Given the description of an element on the screen output the (x, y) to click on. 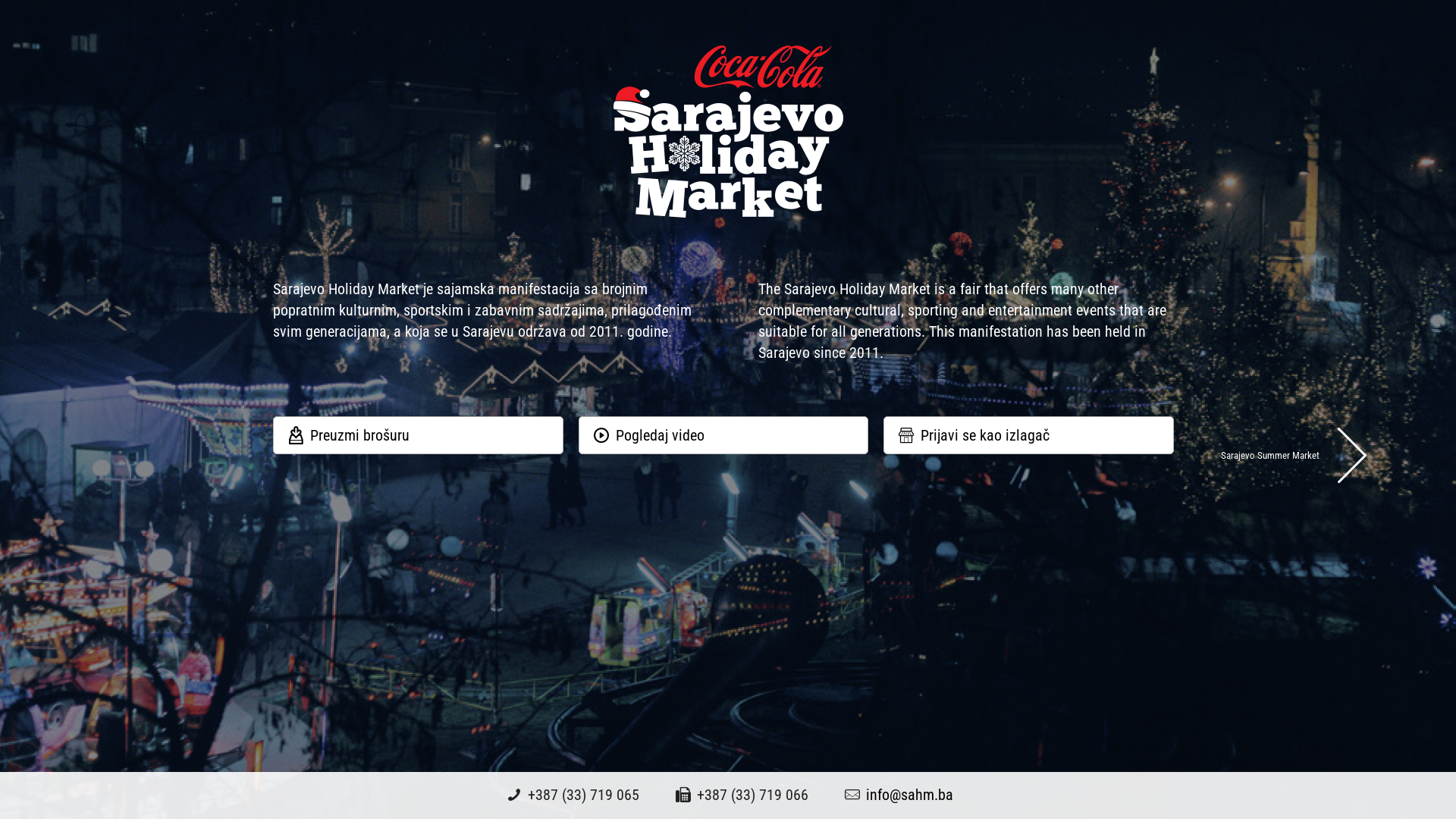
Sarajevo Summer Market Element type: text (1296, 455)
info@sahm.ba Element type: text (909, 794)
Pogledaj video Element type: text (723, 435)
